Given the description of an element on the screen output the (x, y) to click on. 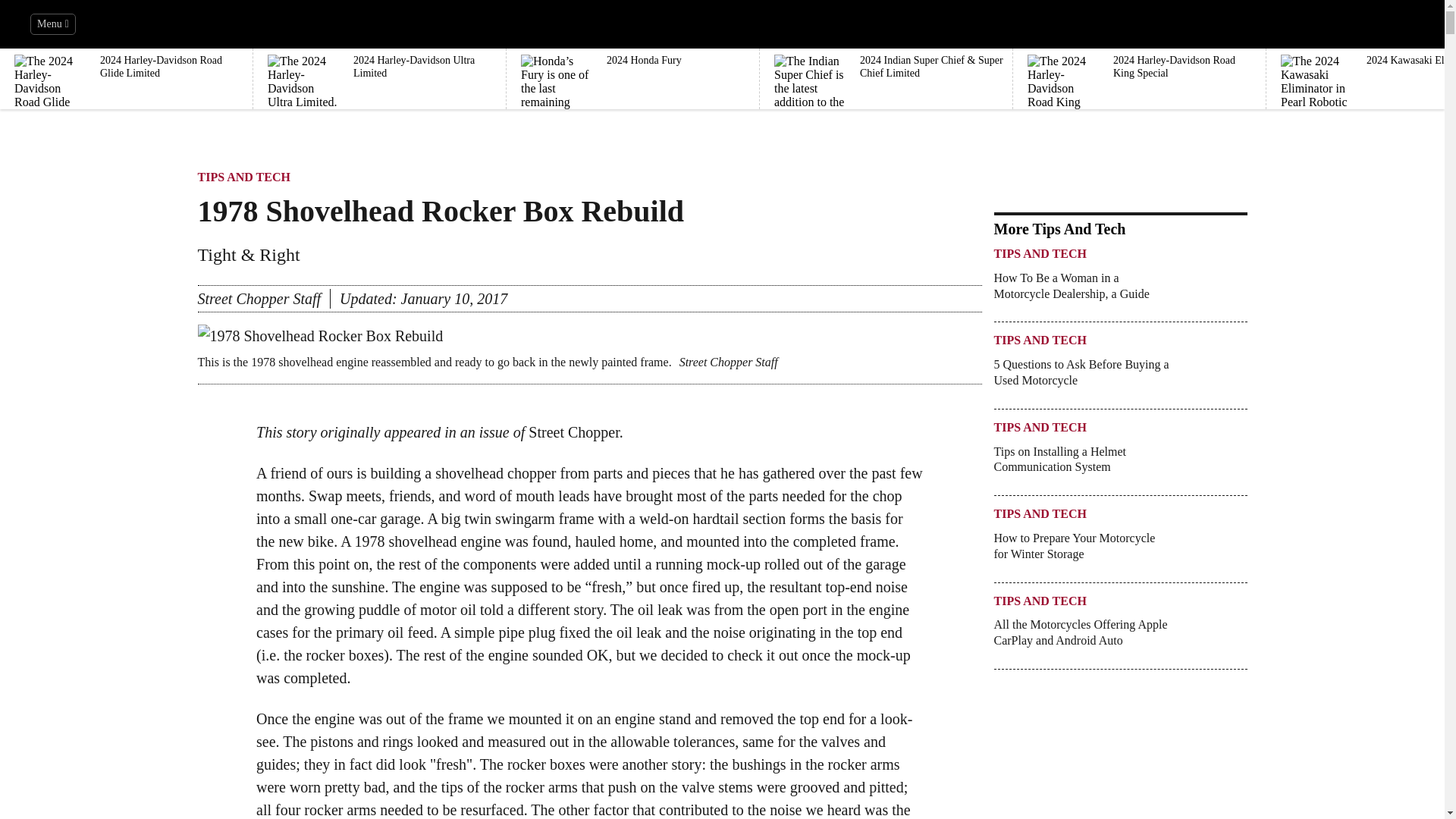
TIPS AND TECH (1039, 431)
How To Be a Woman in a Motorcycle Dealership, a Guide (1081, 292)
2024 Honda Fury (633, 54)
5 Questions to Ask Before Buying a Used Motorcycle (1081, 379)
Tips on Installing a Helmet Communication System (1081, 466)
2024 Harley-Davidson Road King Special (1139, 54)
Menu (52, 24)
TIPS AND TECH (242, 180)
TIPS AND TECH (1039, 257)
2024 Harley-Davidson Road Glide Limited (126, 54)
TIPS AND TECH (1039, 343)
2024 Harley-Davidson Ultra Limited (379, 54)
